Given the description of an element on the screen output the (x, y) to click on. 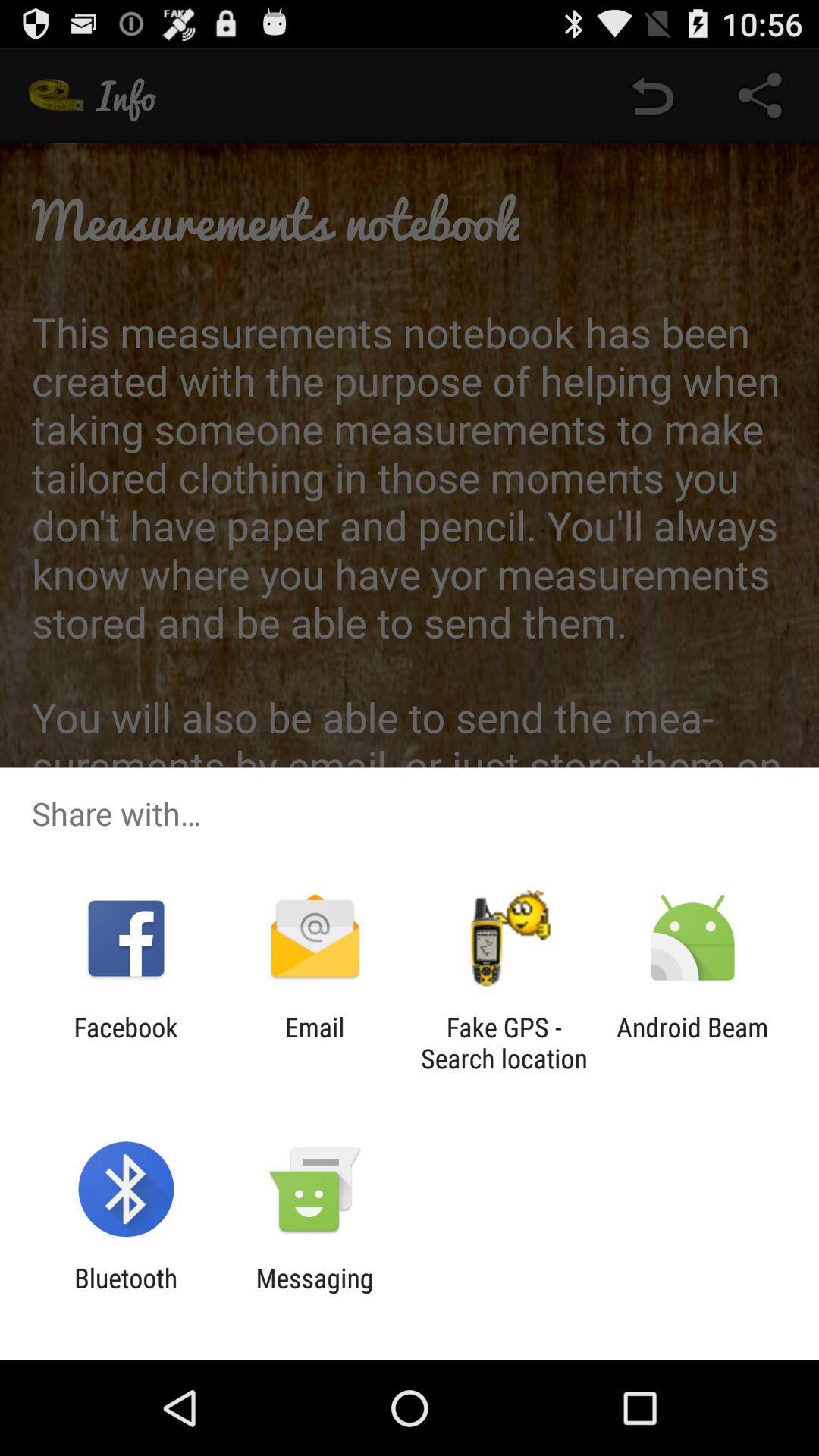
choose the android beam (692, 1042)
